Given the description of an element on the screen output the (x, y) to click on. 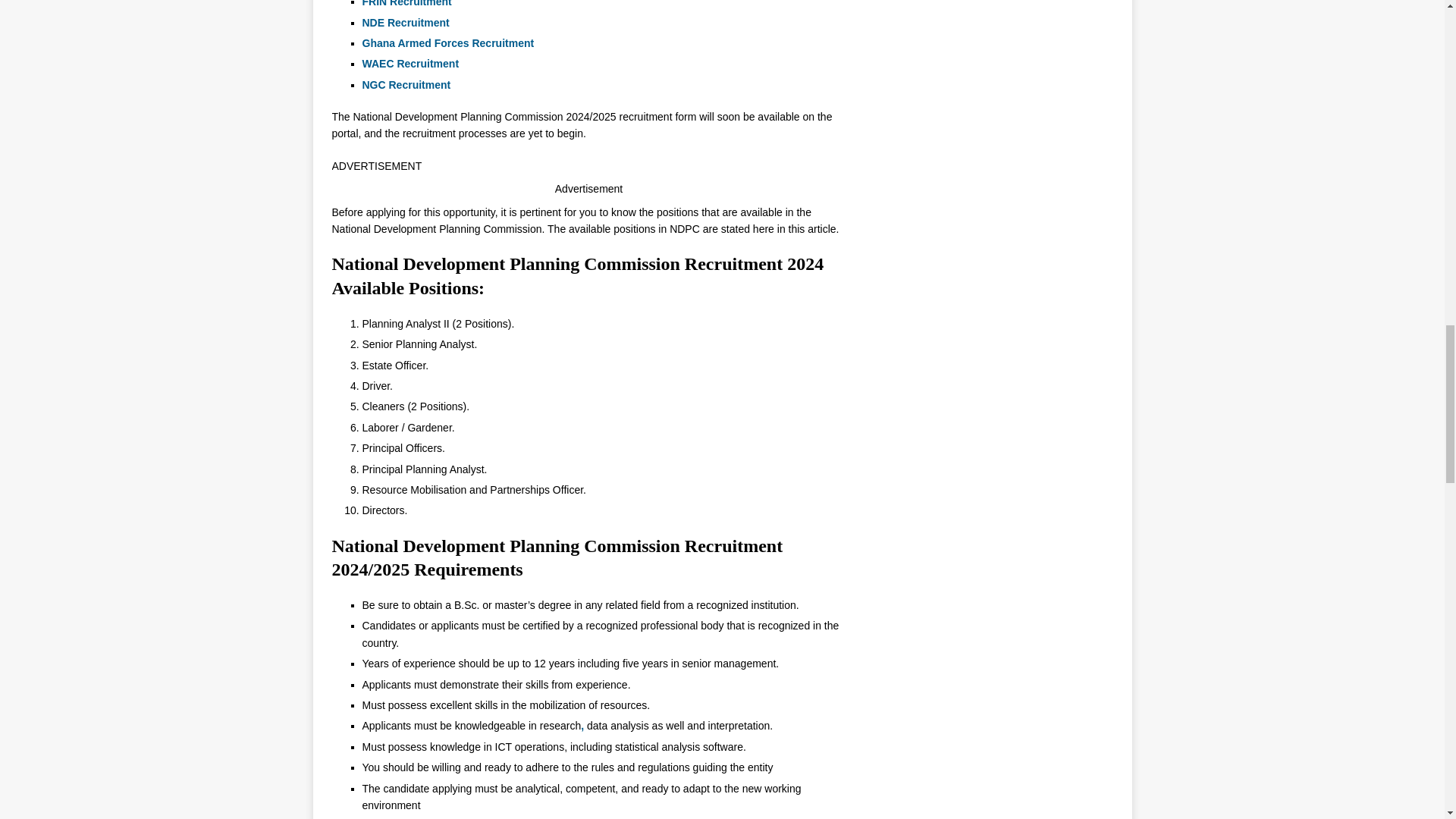
NGC Recruitment  (408, 84)
NDE Recruitment  (407, 22)
WAEC Recruitment  (411, 63)
FRIN Recruitment  (408, 3)
Ghana Armed Forces Recruitment  (449, 42)
